Given the description of an element on the screen output the (x, y) to click on. 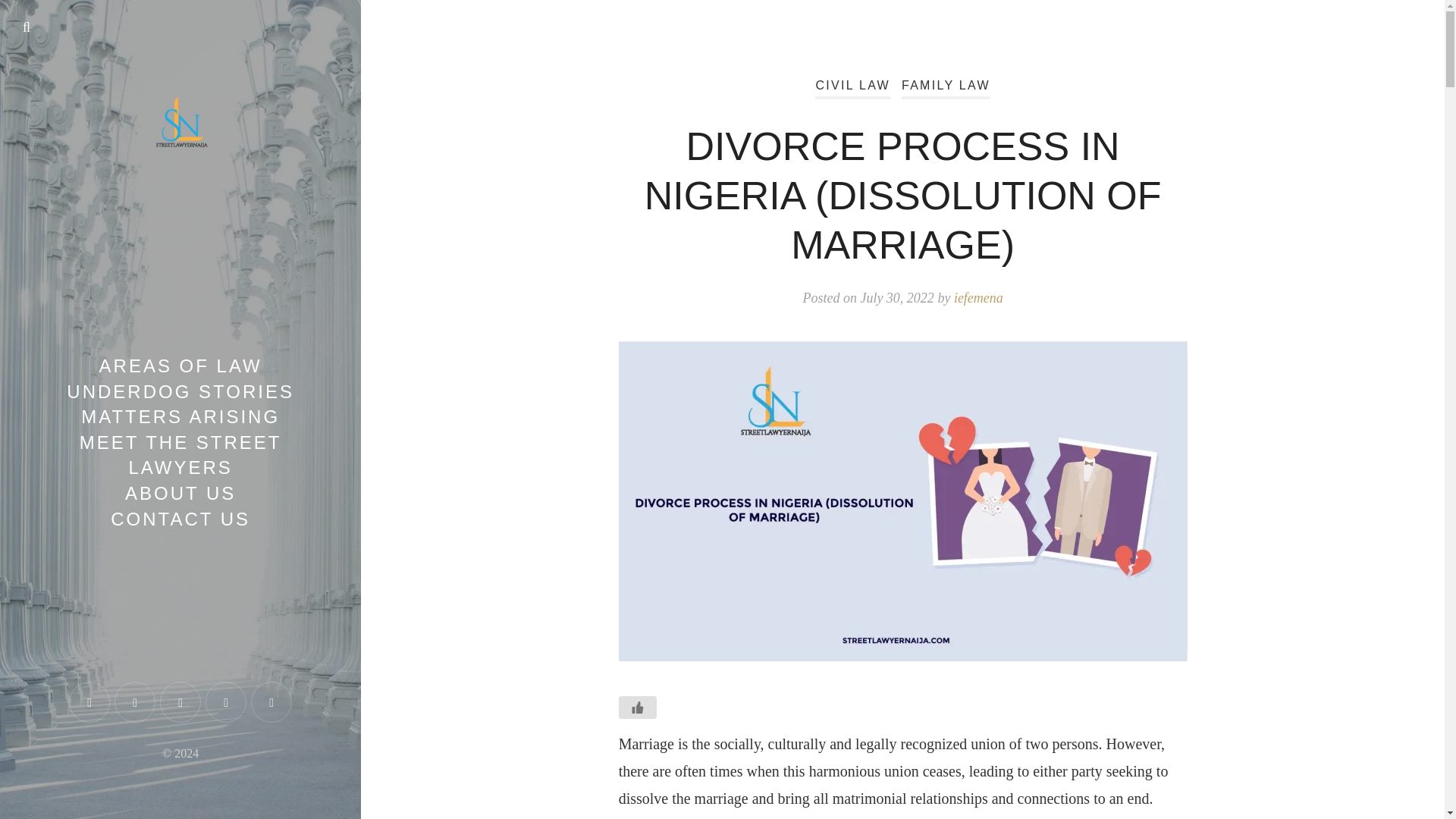
FAMILY LAW (945, 88)
AREAS OF LAW (180, 365)
CONTACT US (180, 518)
ABOUT US (180, 493)
MATTERS ARISING (180, 416)
CIVIL LAW (852, 88)
MEET THE STREET LAWYERS (181, 455)
iefemena (978, 297)
UNDERDOG STORIES (180, 391)
